Given the description of an element on the screen output the (x, y) to click on. 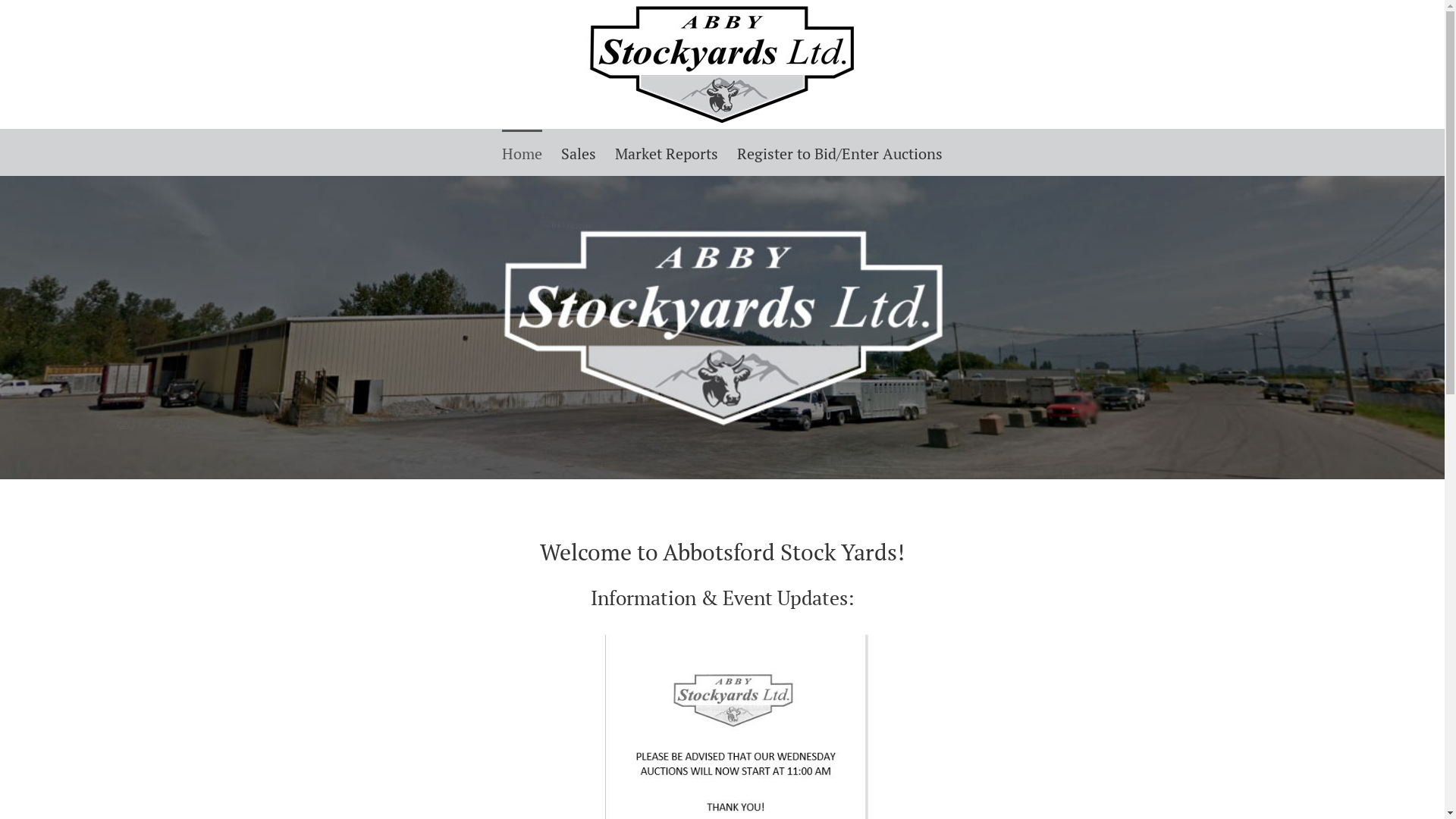
Sales Element type: text (578, 152)
Home Element type: text (522, 152)
Market Reports Element type: text (666, 152)
Register to Bid/Enter Auctions Element type: text (839, 152)
